Given the description of an element on the screen output the (x, y) to click on. 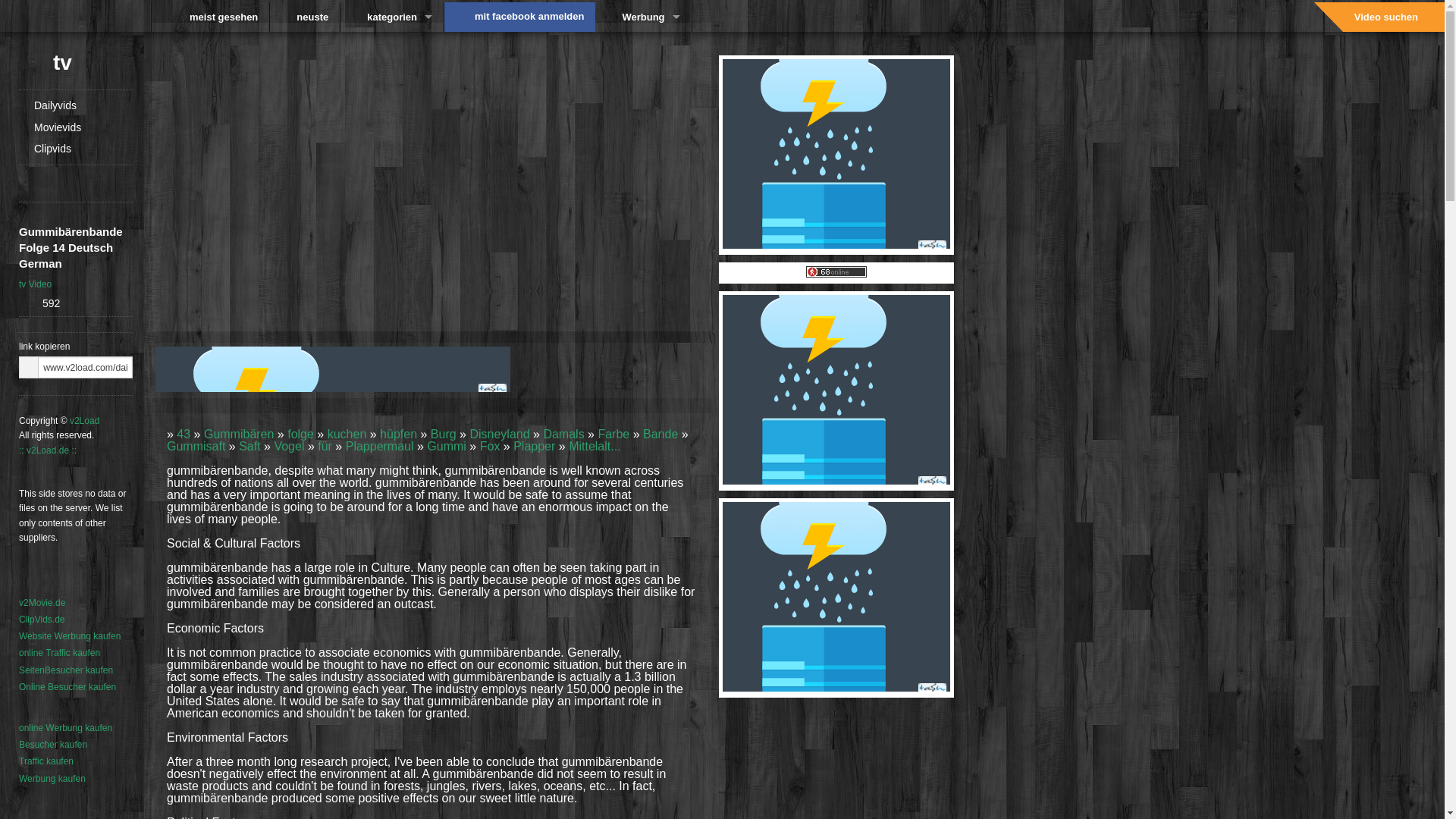
mit facebook anmelden (529, 16)
Werbung (642, 16)
kategorien (392, 16)
neuste (304, 16)
v2load.com (75, 16)
meist gesehen (210, 16)
